Given the description of an element on the screen output the (x, y) to click on. 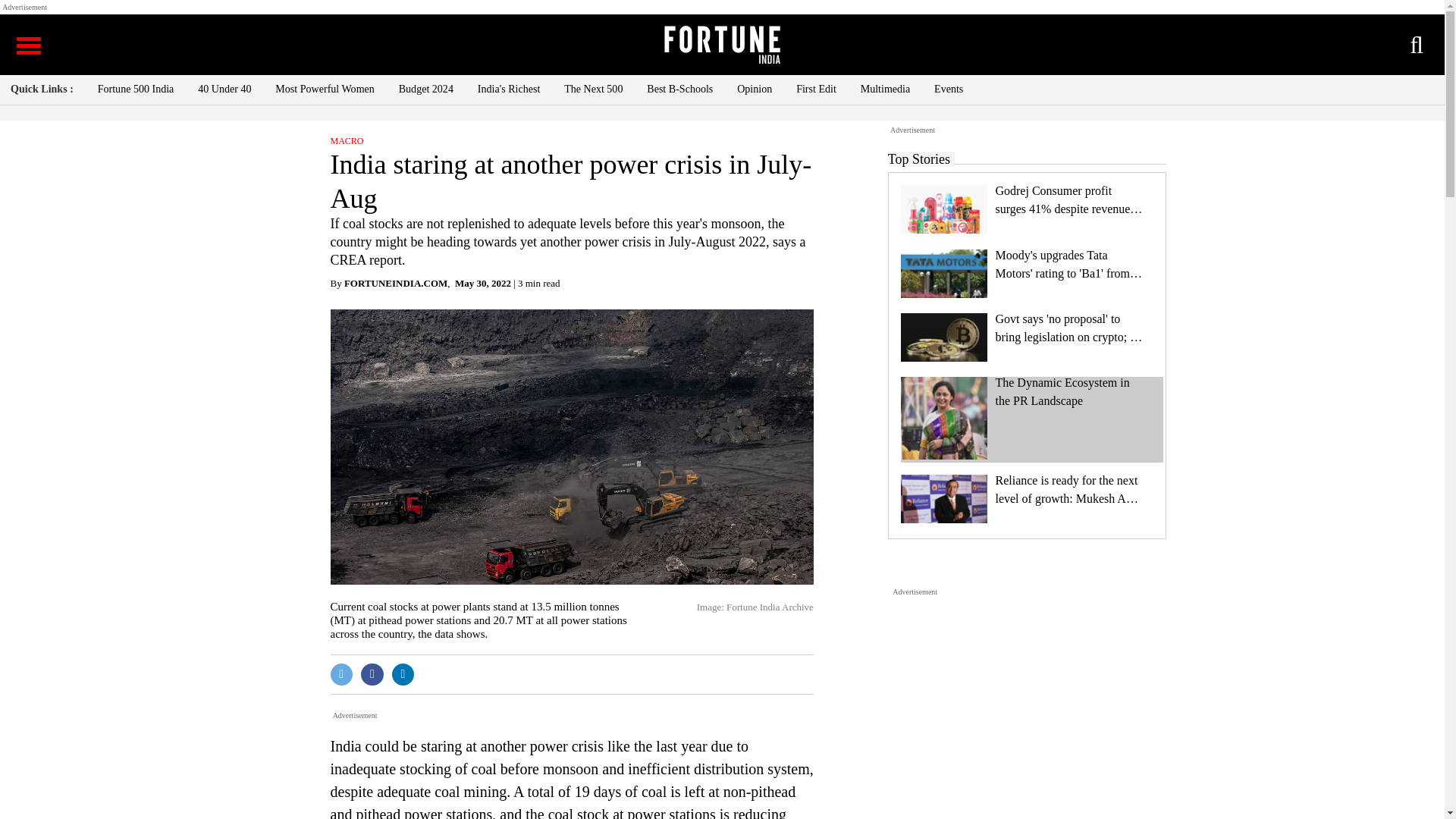
Facebook (372, 674)
Budget 2024 (425, 89)
fortuneindia.com (394, 283)
First Edit (815, 89)
The Next 500 (593, 89)
Multimedia (885, 89)
India's Richest (508, 89)
40 Under 40 (224, 89)
3rd party ad content (1026, 693)
Twitter (341, 674)
Opinion (753, 89)
Most Powerful Women (324, 89)
FortuneIndia (721, 44)
Fortune 500 India (135, 89)
Linkedin (402, 674)
